Given the description of an element on the screen output the (x, y) to click on. 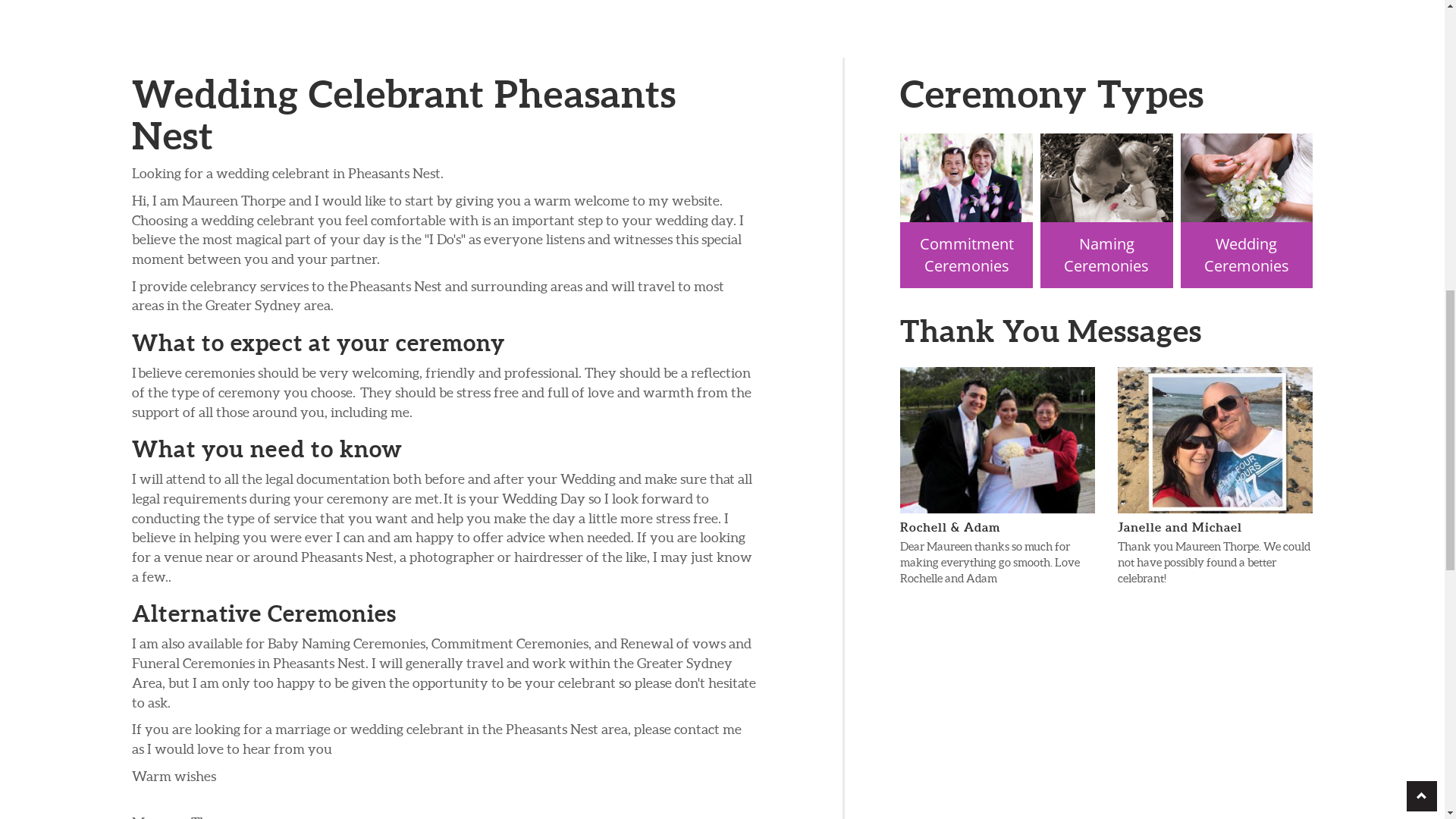
WEDDING FAQ'S Element type: text (752, 30)
LEGALITIES Element type: text (531, 30)
CONTACT MAUREEN Element type: text (950, 30)
GALLERY Element type: text (846, 30)
HOME Element type: text (457, 30)
CEREMONY TYPES Element type: text (635, 30)
